Given the description of an element on the screen output the (x, y) to click on. 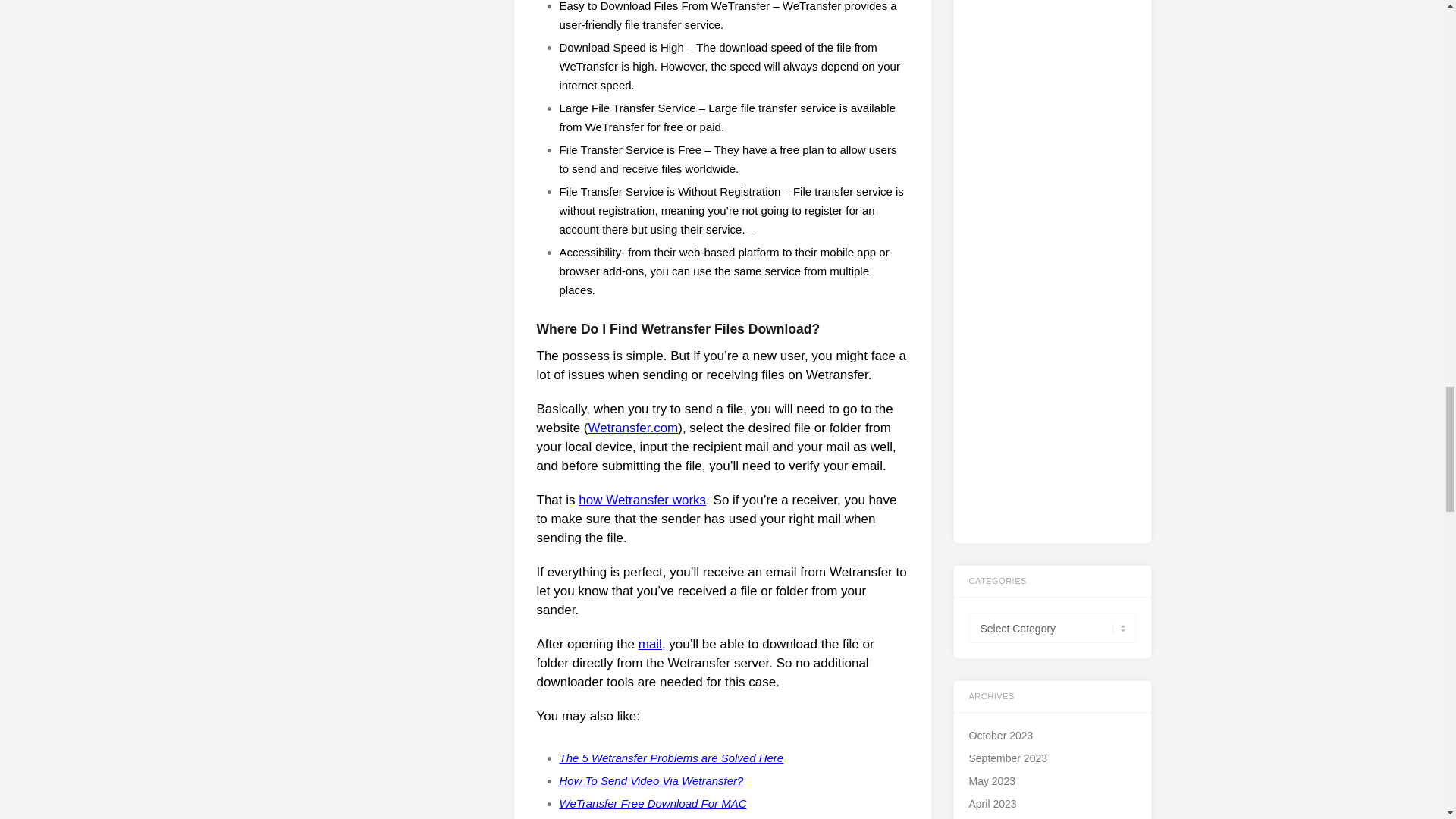
The 5 Wetransfer Problems are Solved Here (671, 757)
Wetransfer.com (633, 427)
How To Send Video Via Wetransfer? (651, 780)
Advertisement (1052, 284)
mail (650, 644)
WeTransfer Free Download For MAC (652, 802)
how Wetransfer works (642, 499)
